Given the description of an element on the screen output the (x, y) to click on. 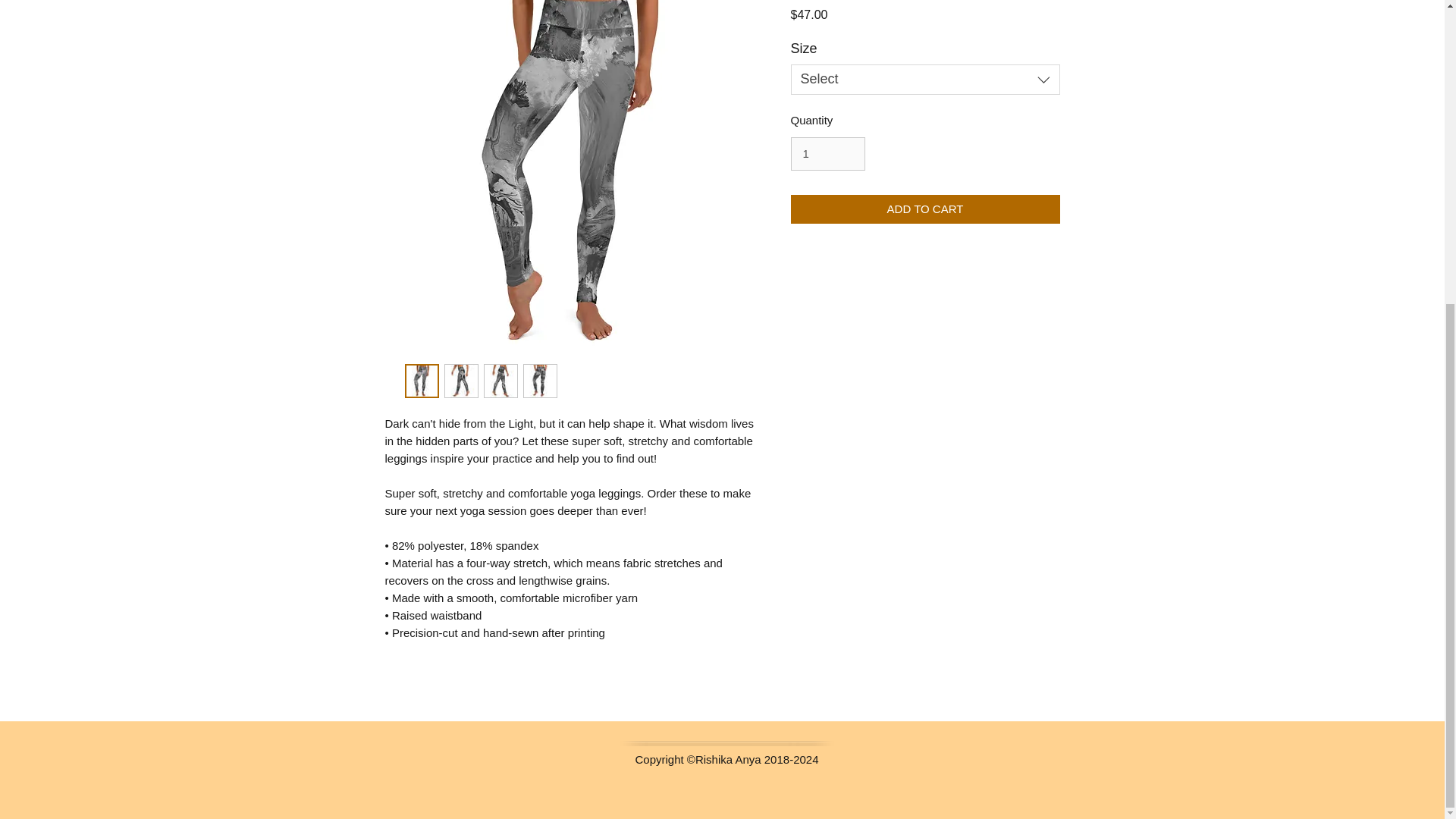
Select (924, 79)
1 (827, 153)
ADD TO CART (924, 209)
